Given the description of an element on the screen output the (x, y) to click on. 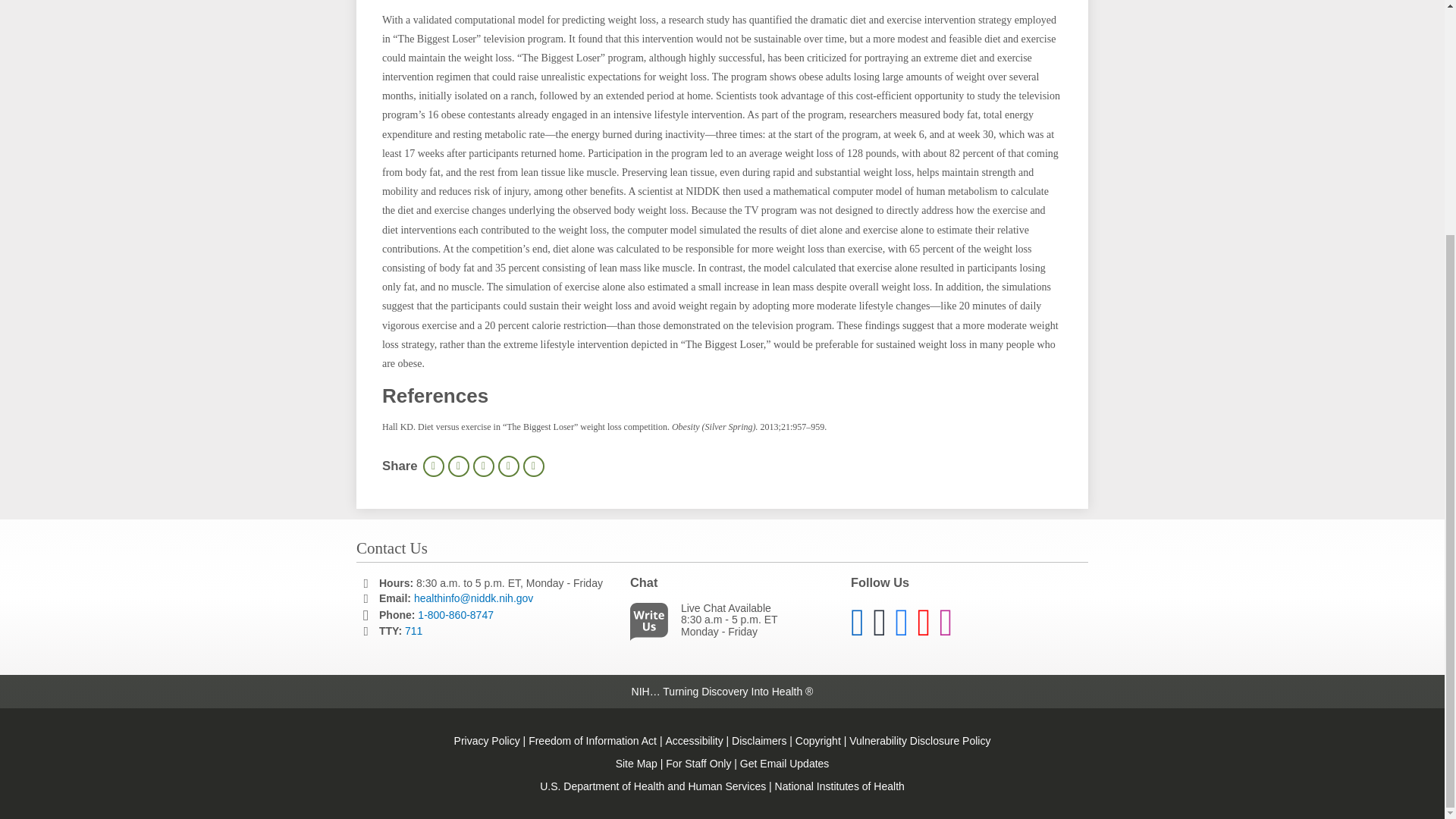
Email this page (508, 465)
More sharing options (533, 465)
Share this page on Facebook (458, 465)
Print this page (433, 465)
Post this page on X (484, 465)
